Given the description of an element on the screen output the (x, y) to click on. 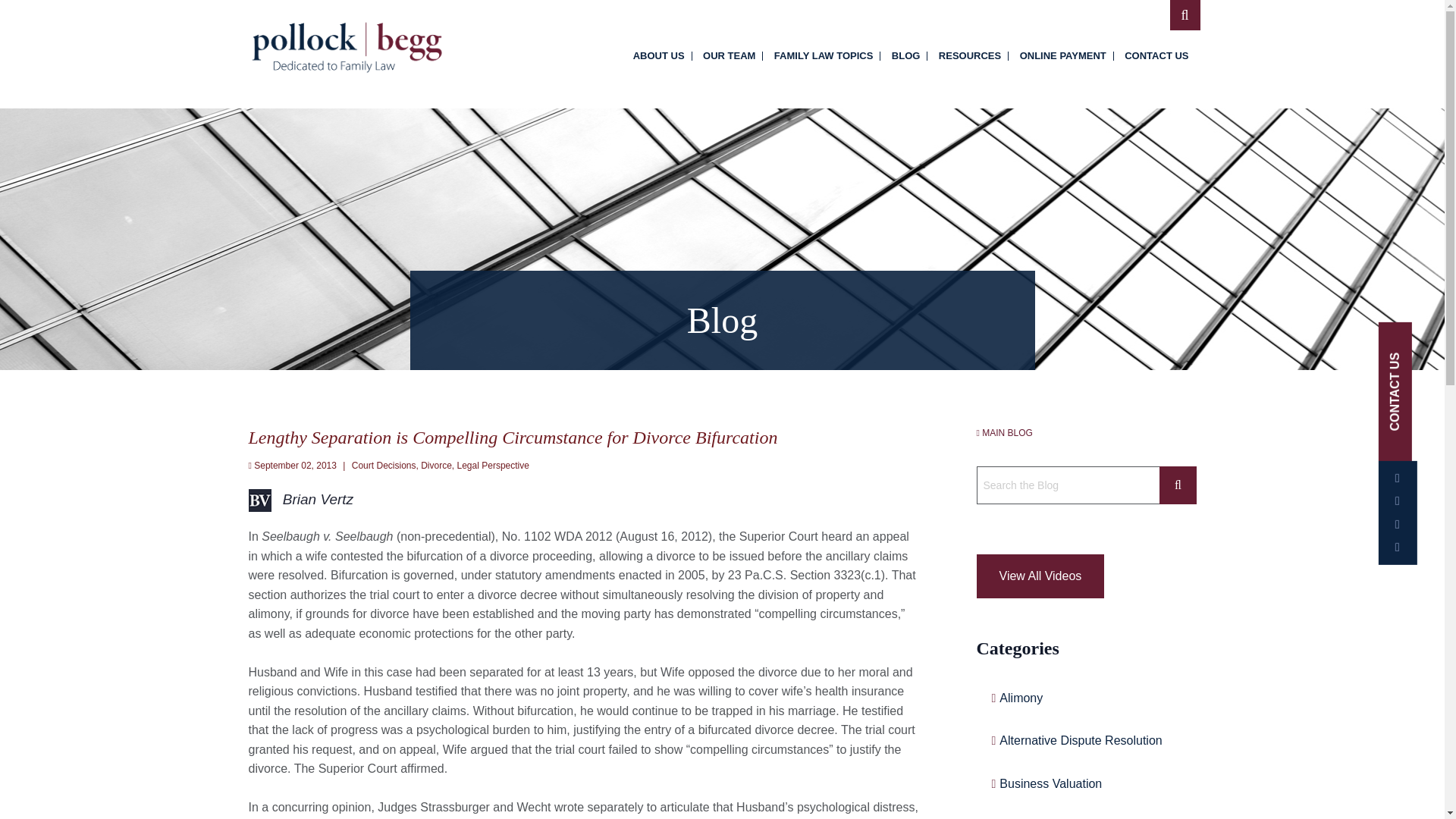
BLOG (905, 56)
CONTACT US (1155, 56)
ABOUT US (659, 56)
FAMILY LAW TOPICS (823, 56)
Legal Perspective (493, 465)
OUR TEAM (728, 56)
RESOURCES (970, 56)
ONLINE PAYMENT (1062, 56)
Court Decisions (384, 465)
Divorce (435, 465)
